Given the description of an element on the screen output the (x, y) to click on. 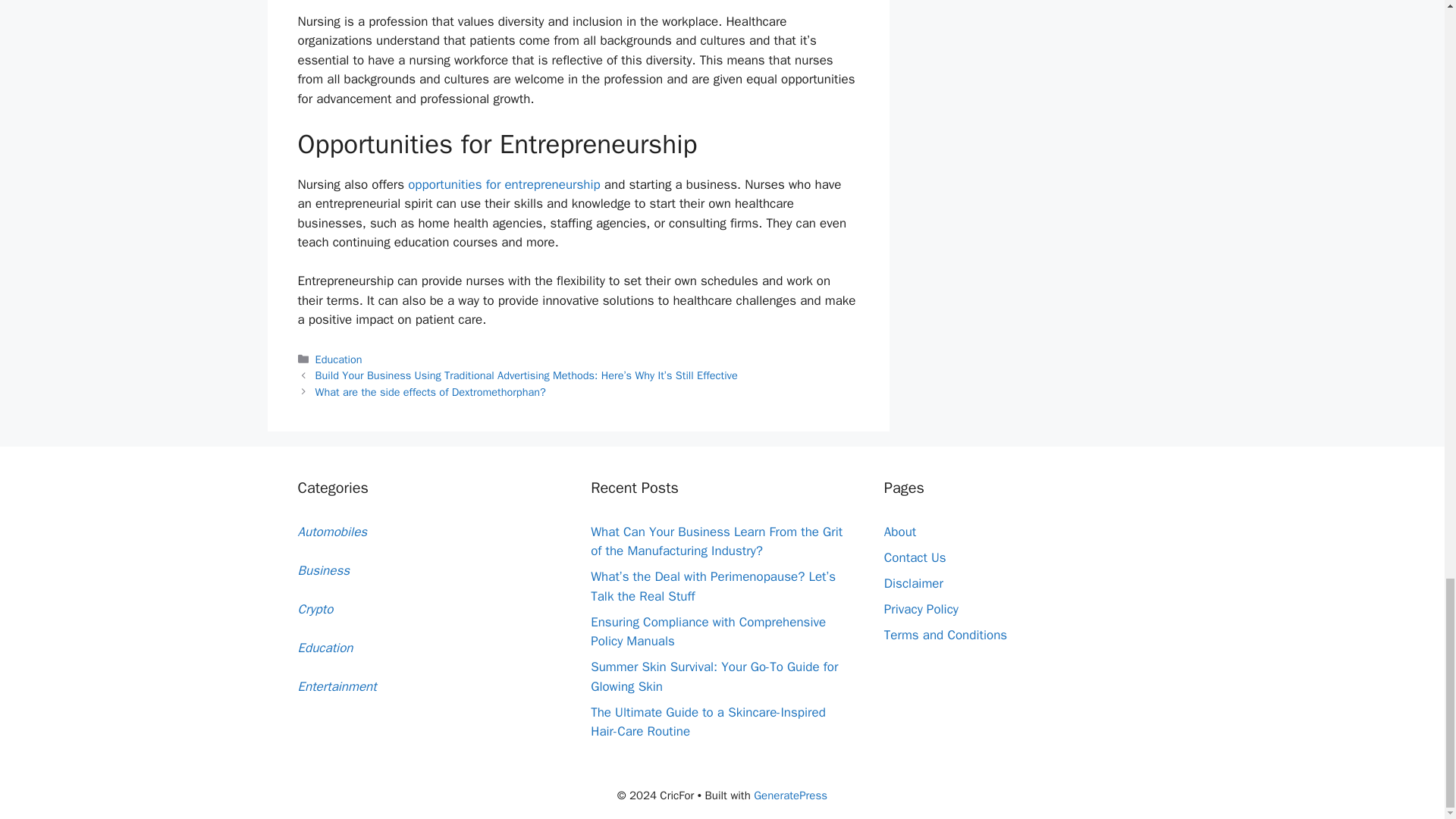
opportunities for entrepreneurship (503, 184)
What are the side effects of Dextromethorphan? (430, 391)
Education (338, 359)
